Given the description of an element on the screen output the (x, y) to click on. 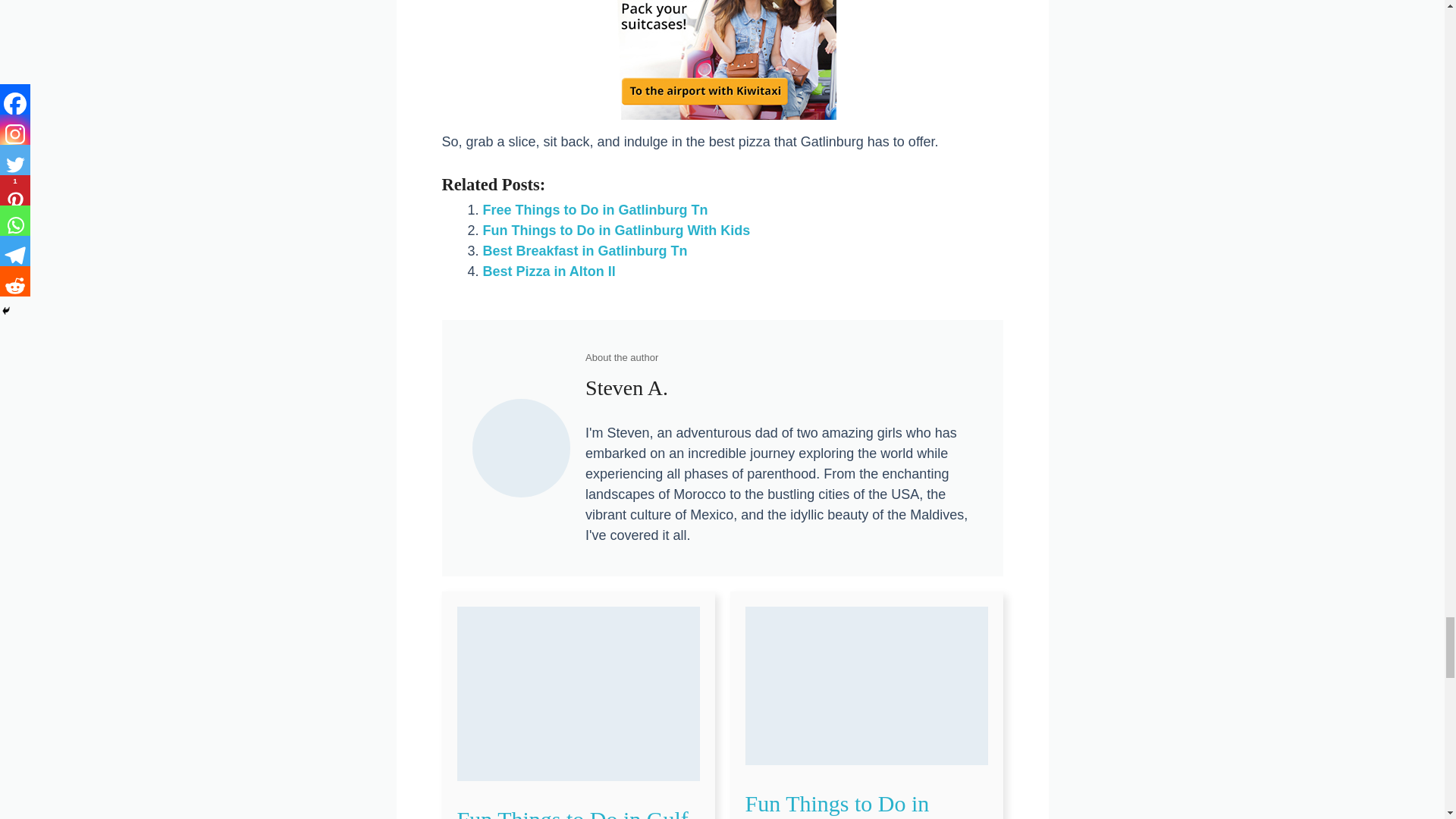
Free Things to Do in Gatlinburg Tn (594, 209)
Best Breakfast in Gatlinburg Tn (584, 250)
Fun Things to Do in Gatlinburg With Kids (615, 230)
Best Pizza in Alton Il (547, 271)
